Given the description of an element on the screen output the (x, y) to click on. 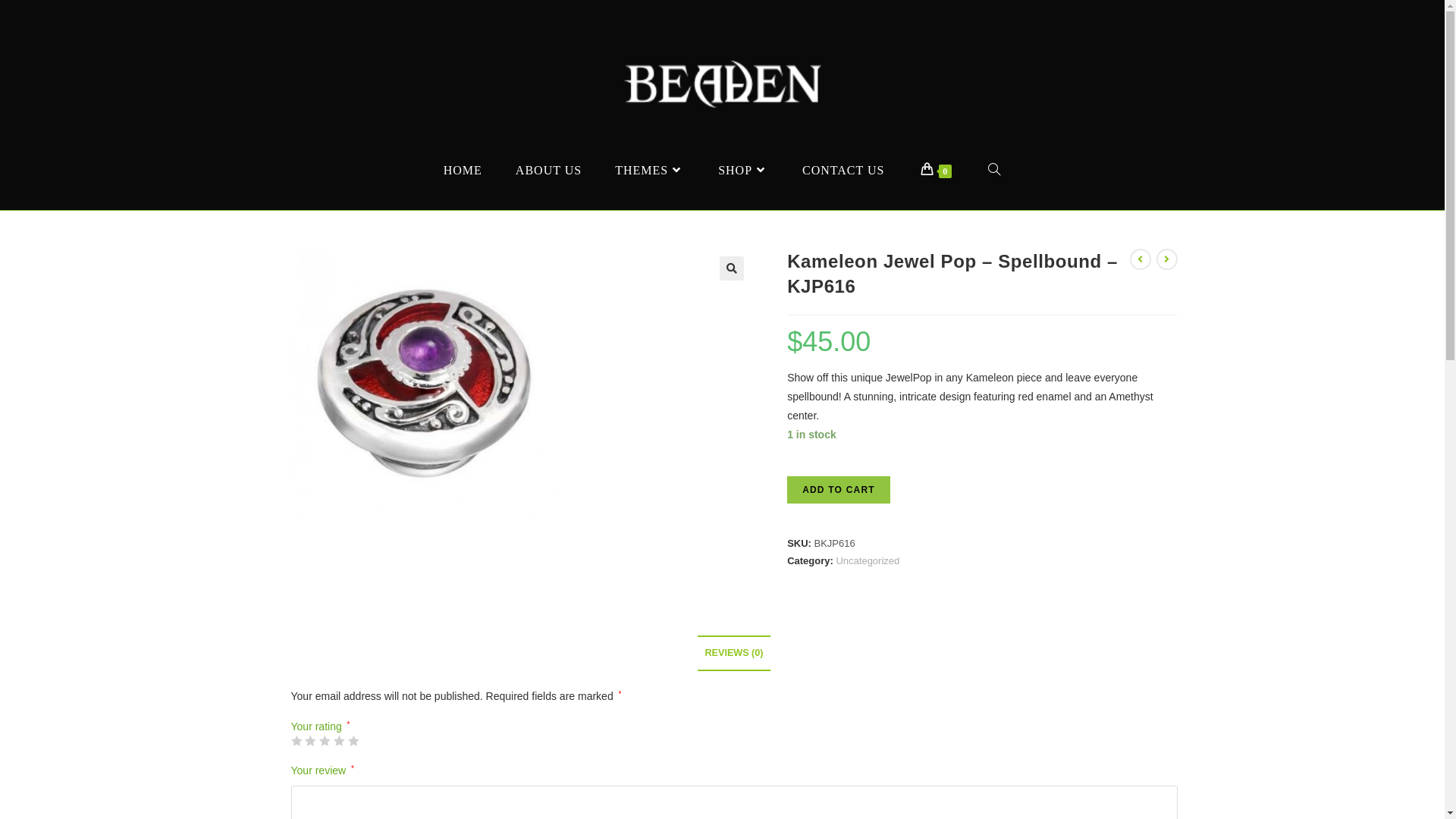
5 Element type: text (353, 740)
CONTACT US Element type: text (842, 170)
ABOUT US Element type: text (548, 170)
HOME Element type: text (462, 170)
0 Element type: text (935, 170)
KJP616 Element type: hover (423, 382)
TOGGLE WEBSITE SEARCH Element type: text (994, 170)
2 Element type: text (309, 740)
ADD TO CART Element type: text (838, 489)
1 Element type: text (296, 740)
THEMES Element type: text (649, 170)
SHOP Element type: text (743, 170)
3 Element type: text (324, 740)
6256 Element type: text (1104, 24)
4 Element type: text (338, 740)
Uncategorized Element type: text (867, 560)
REVIEWS (0) Element type: text (734, 653)
